Given the description of an element on the screen output the (x, y) to click on. 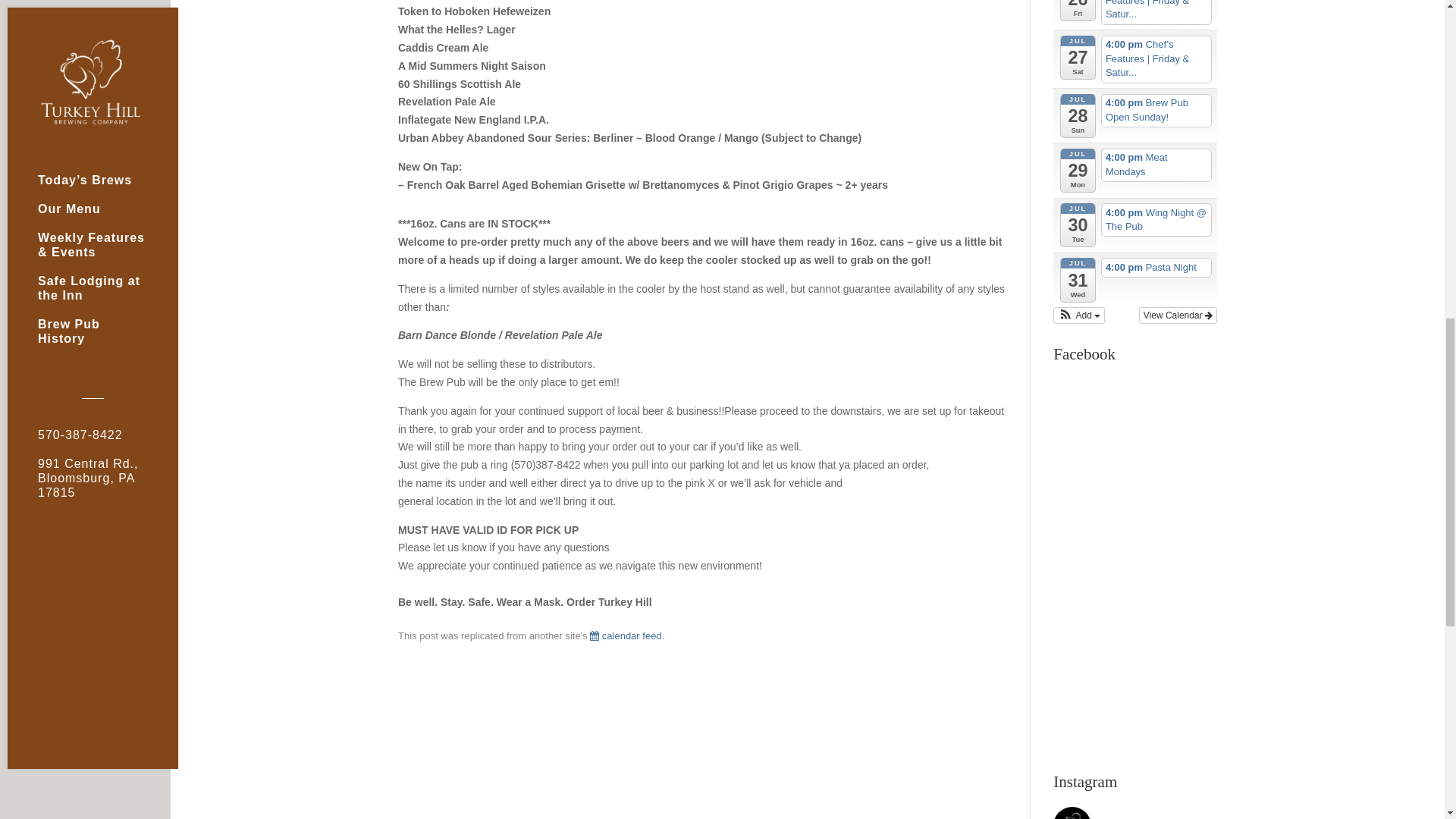
iCalendar feed (625, 635)
calendar feed (625, 635)
